Given the description of an element on the screen output the (x, y) to click on. 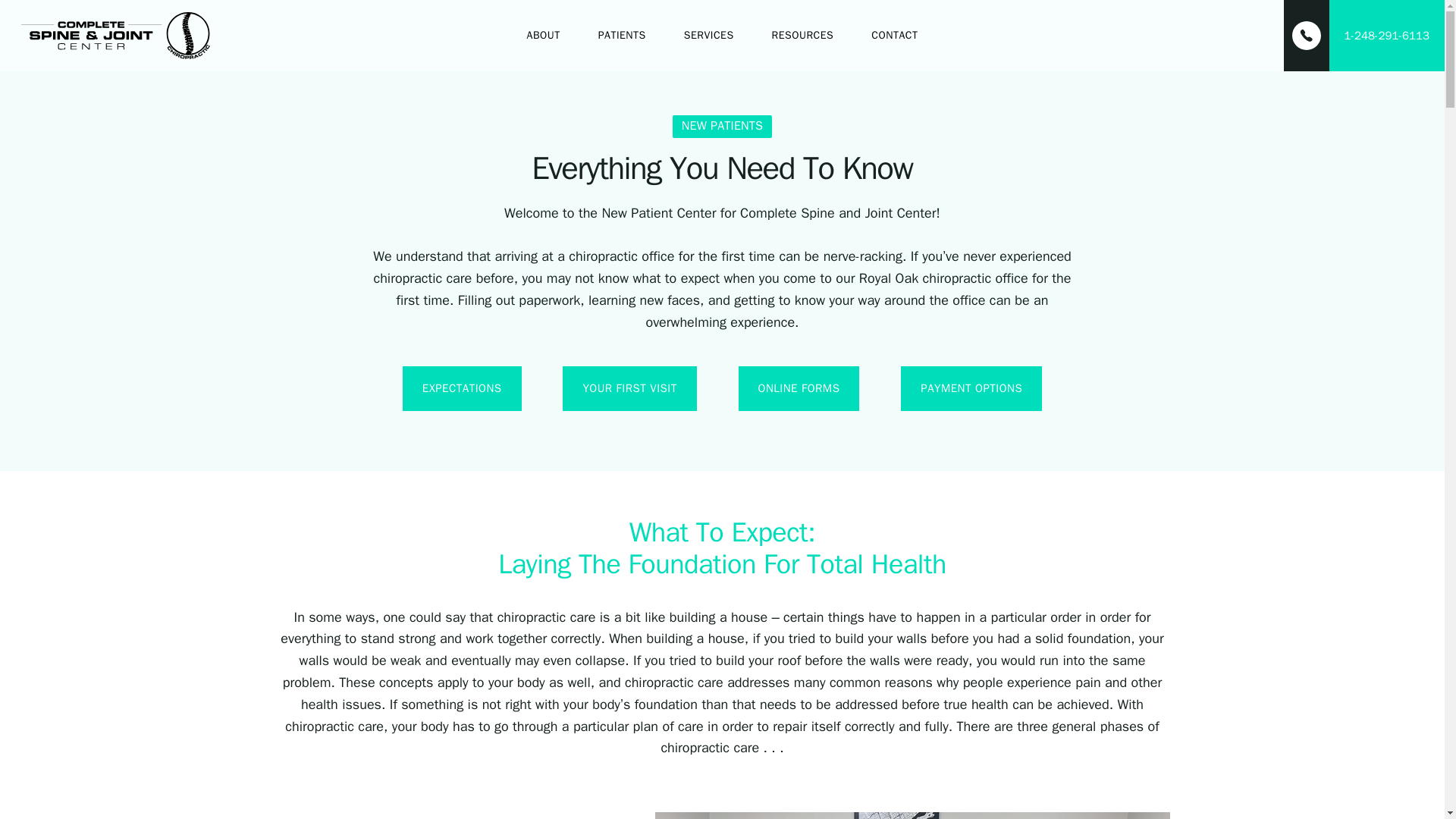
YOUR FIRST VISIT (628, 388)
EXPECTATIONS (462, 388)
RESOURCES (802, 35)
ABOUT (543, 35)
PAYMENT OPTIONS (971, 388)
CONTACT (893, 35)
PATIENTS (622, 35)
ONLINE FORMS (799, 388)
SERVICES (708, 35)
